Given the description of an element on the screen output the (x, y) to click on. 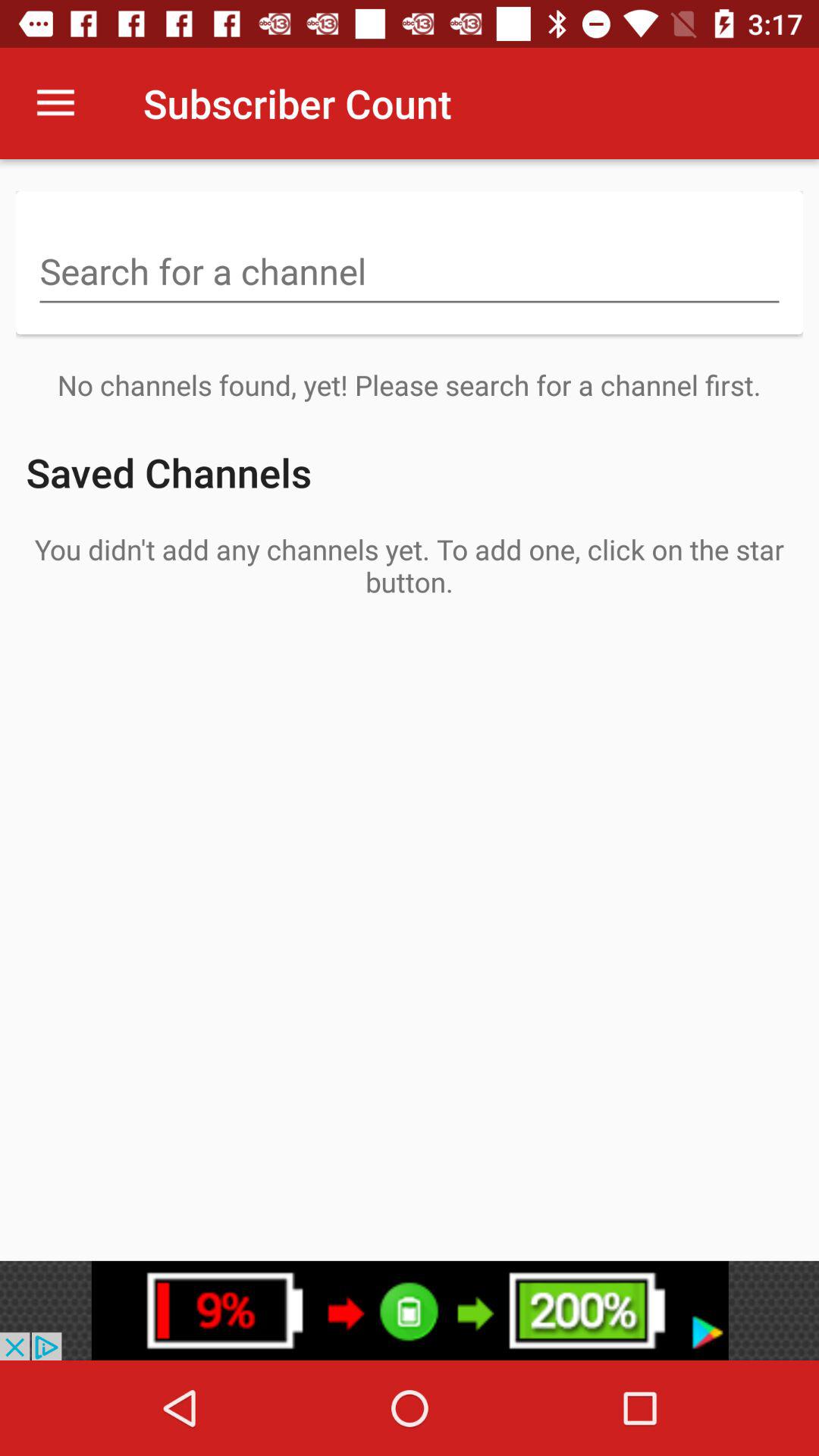
enter search keywords here (409, 273)
